Given the description of an element on the screen output the (x, y) to click on. 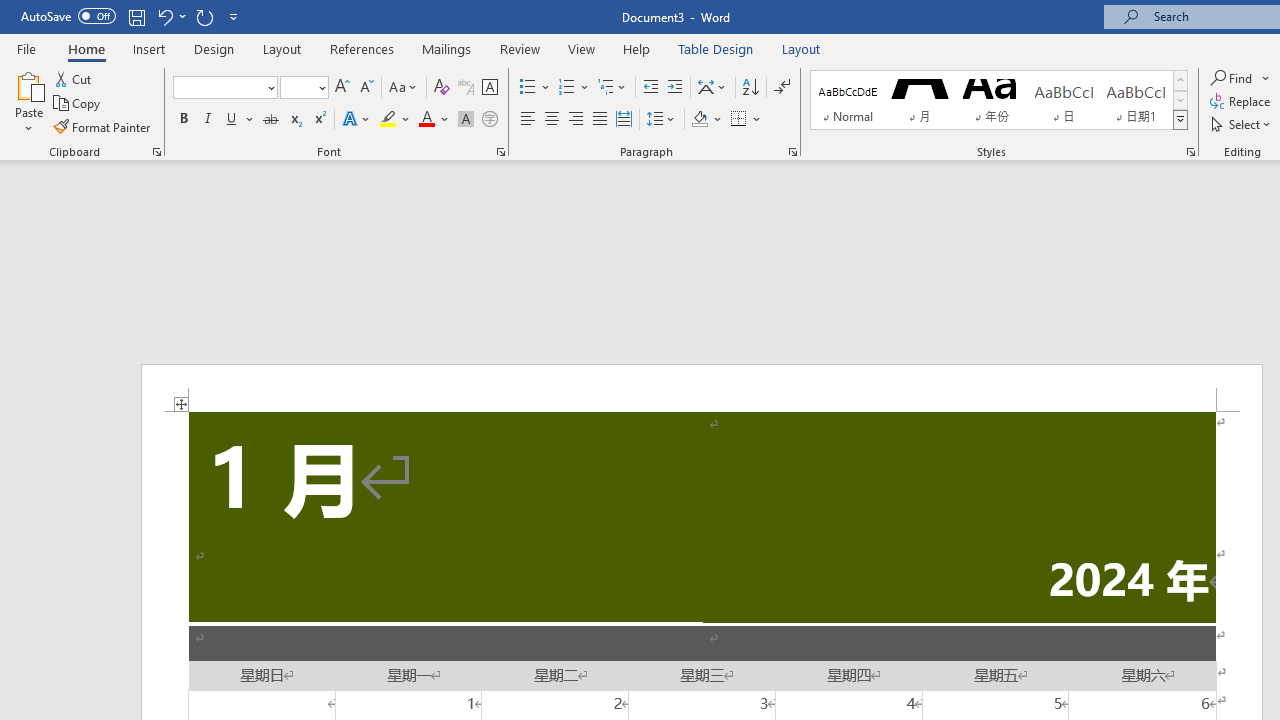
Phonetic Guide... (465, 87)
Clear Formatting (442, 87)
Font... (500, 151)
Text Effects and Typography (357, 119)
Italic (207, 119)
Row Down (1179, 100)
Font Color RGB(255, 0, 0) (426, 119)
Open (320, 87)
